Given the description of an element on the screen output the (x, y) to click on. 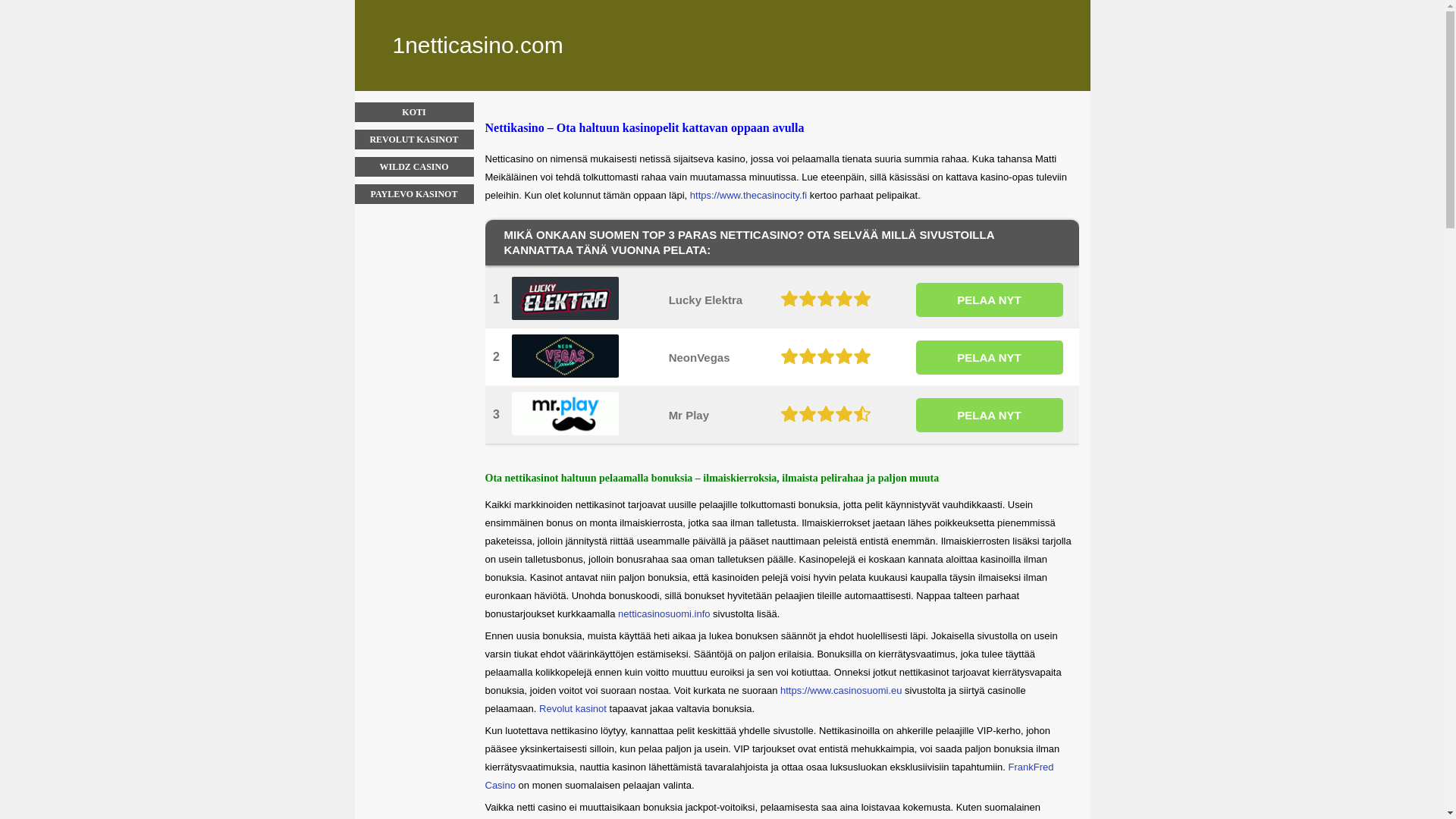
https://www.thecasinocity.fi Element type: text (748, 194)
KOTI Element type: text (413, 112)
PAYLEVO KASINOT Element type: text (413, 193)
PELAA NYT Element type: text (989, 356)
FrankFred Casino Element type: text (769, 775)
netticasinosuomi.info Element type: text (663, 613)
https://www.casinosuomi.eu Element type: text (840, 690)
WILDZ CASINO Element type: text (413, 166)
PELAA NYT Element type: text (989, 414)
Revolut kasinot Element type: text (572, 708)
REVOLUT KASINOT Element type: text (413, 139)
PELAA NYT Element type: text (989, 299)
